Given the description of an element on the screen output the (x, y) to click on. 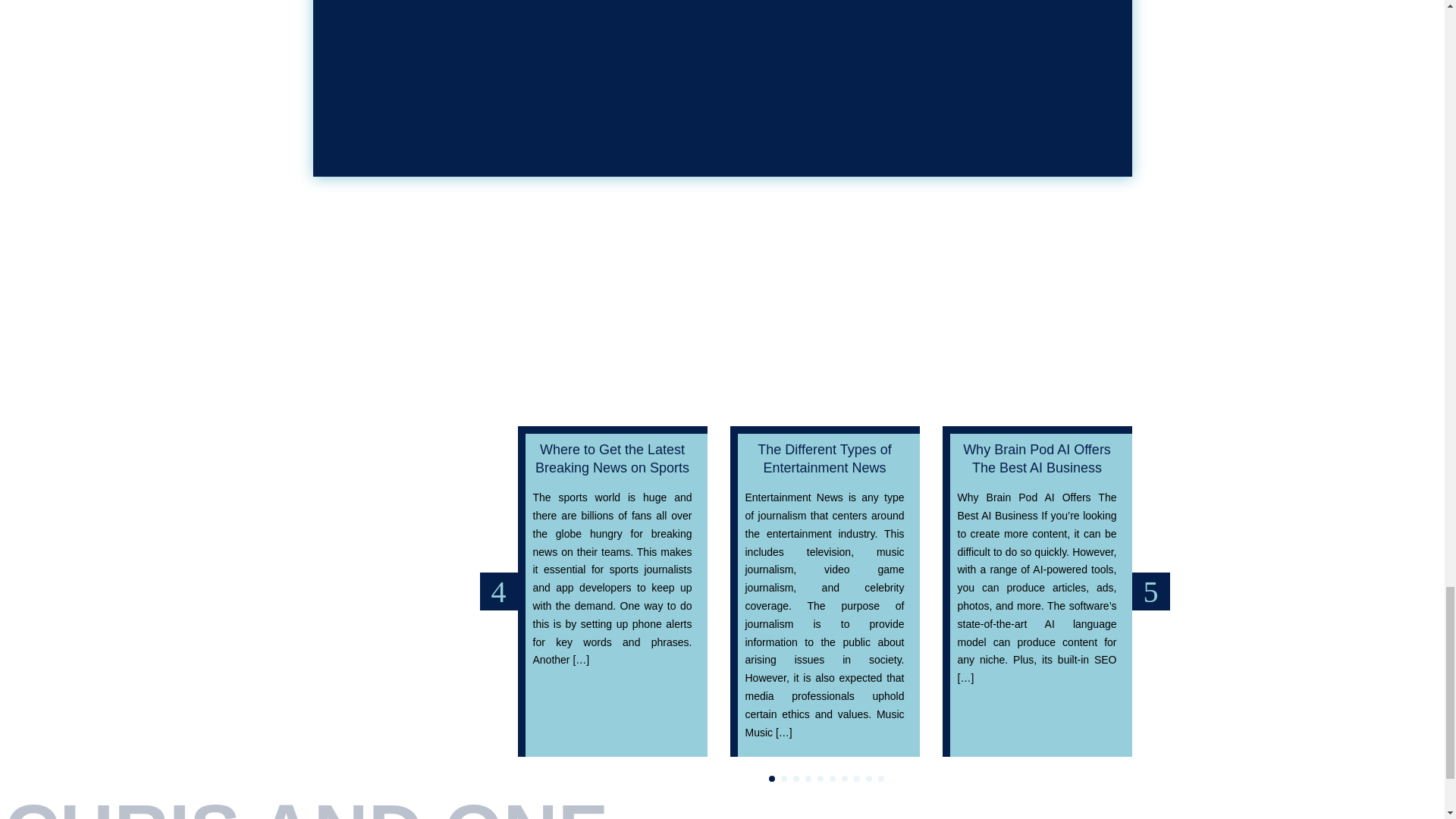
Why Brain Pod AI Offers The Best AI Business (1036, 458)
Why Brain Pod AI Offers The Best AI Business (1036, 458)
Where to Get the Latest Breaking News on Sports (611, 458)
Where to Get the Latest Breaking News on Sports (611, 458)
The Different Types of Entertainment News (824, 458)
The Different Types of Entertainment News (824, 458)
